Given the description of an element on the screen output the (x, y) to click on. 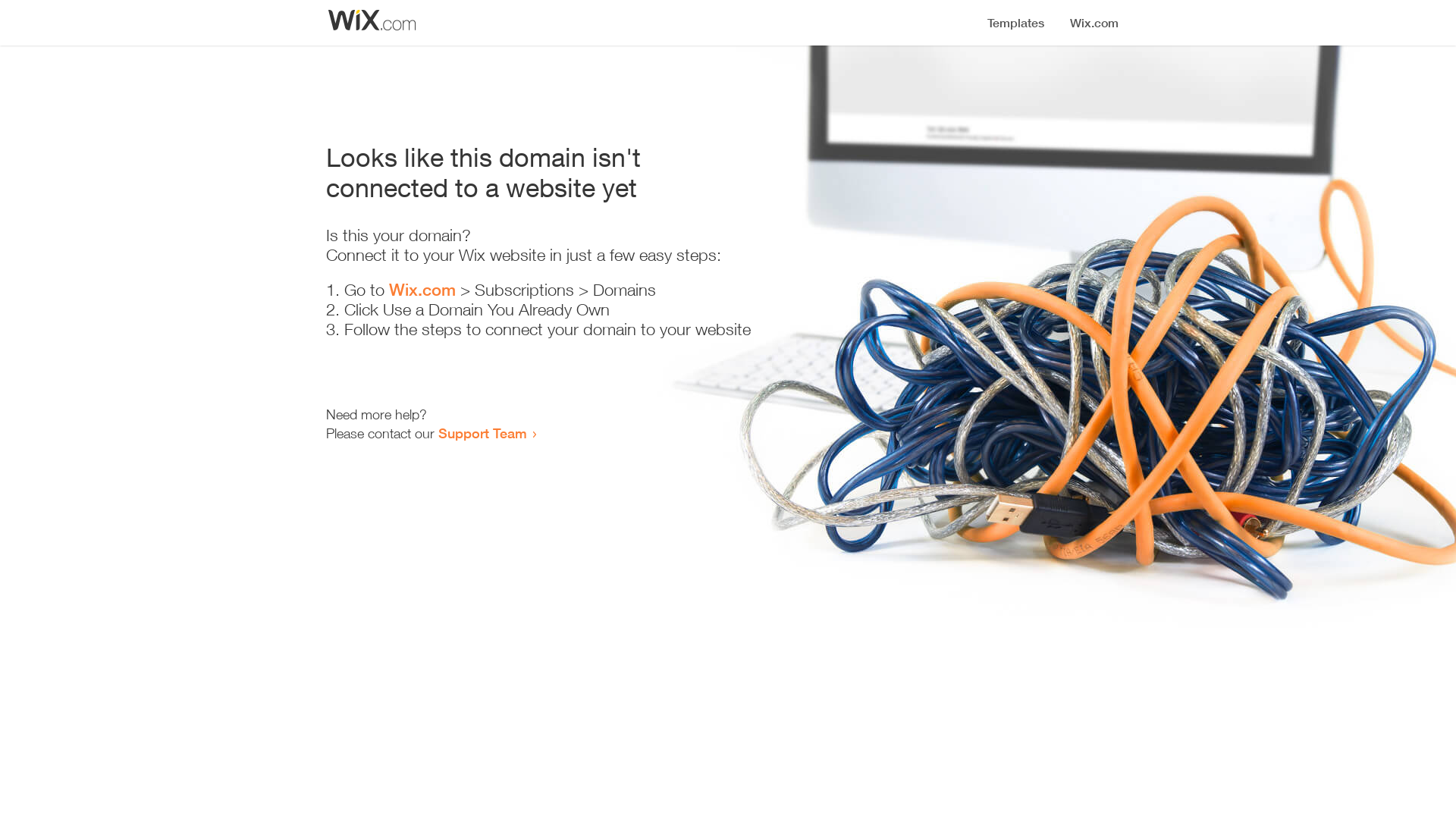
Support Team Element type: text (482, 432)
Wix.com Element type: text (422, 289)
